Given the description of an element on the screen output the (x, y) to click on. 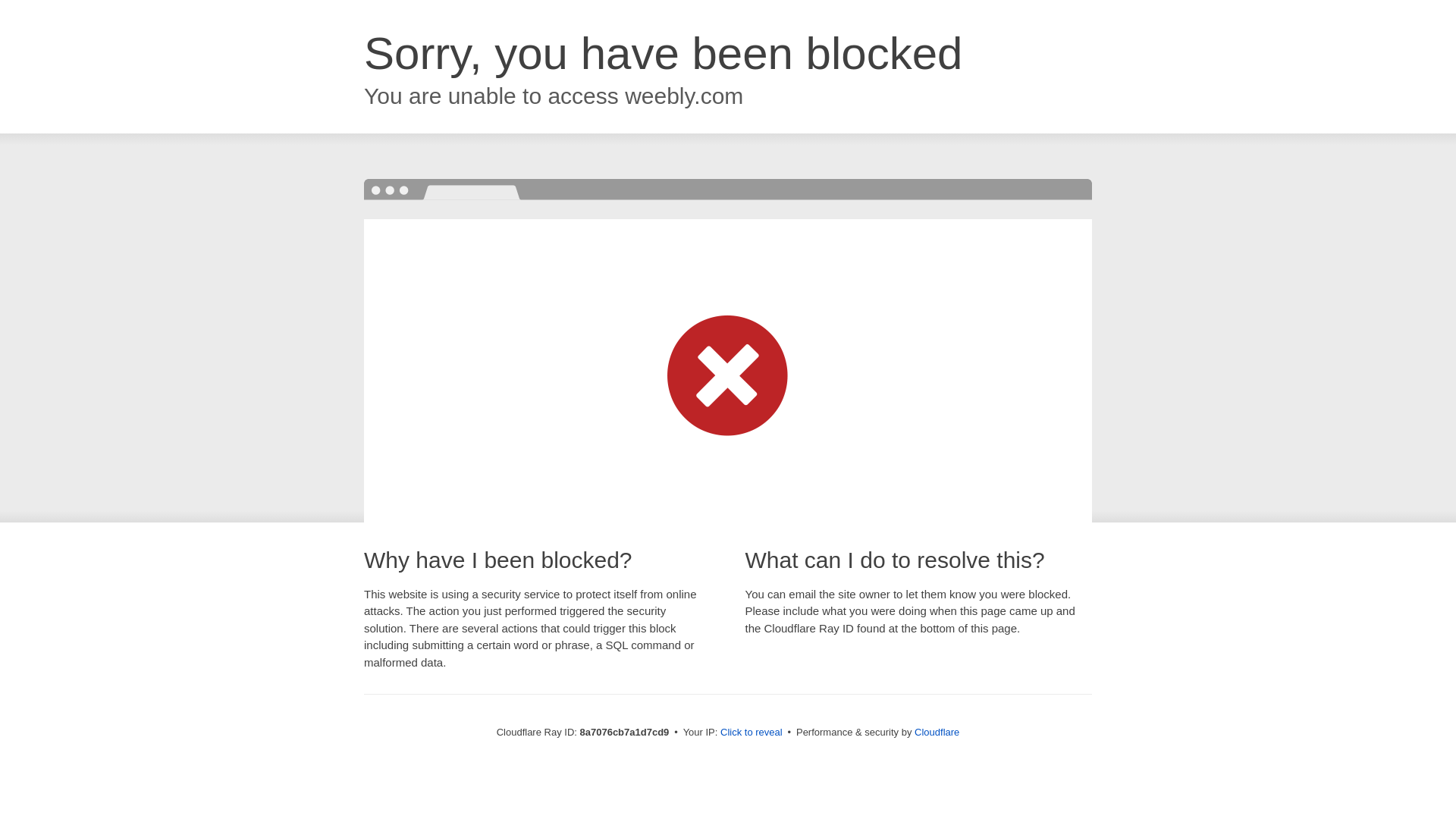
Cloudflare (936, 731)
Click to reveal (751, 732)
